Given the description of an element on the screen output the (x, y) to click on. 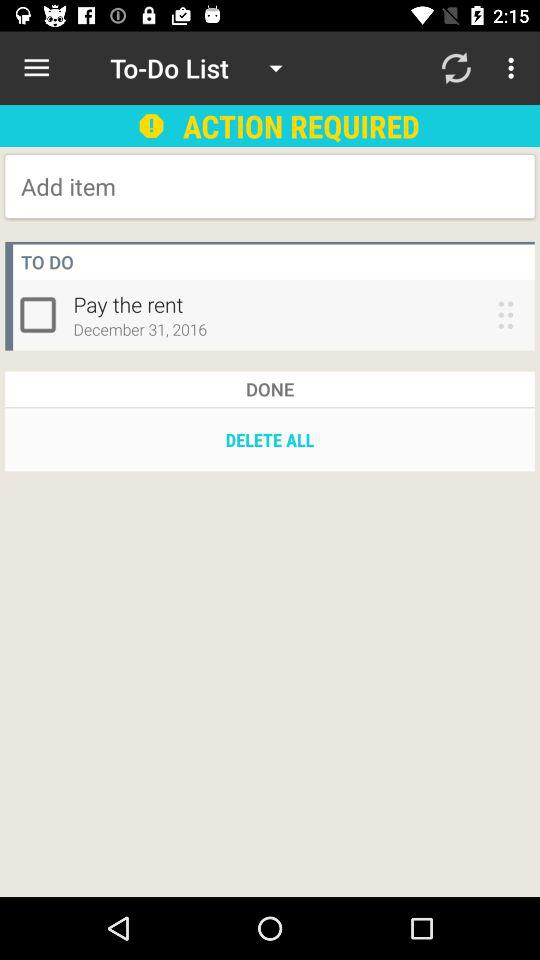
add another item (181, 186)
